Given the description of an element on the screen output the (x, y) to click on. 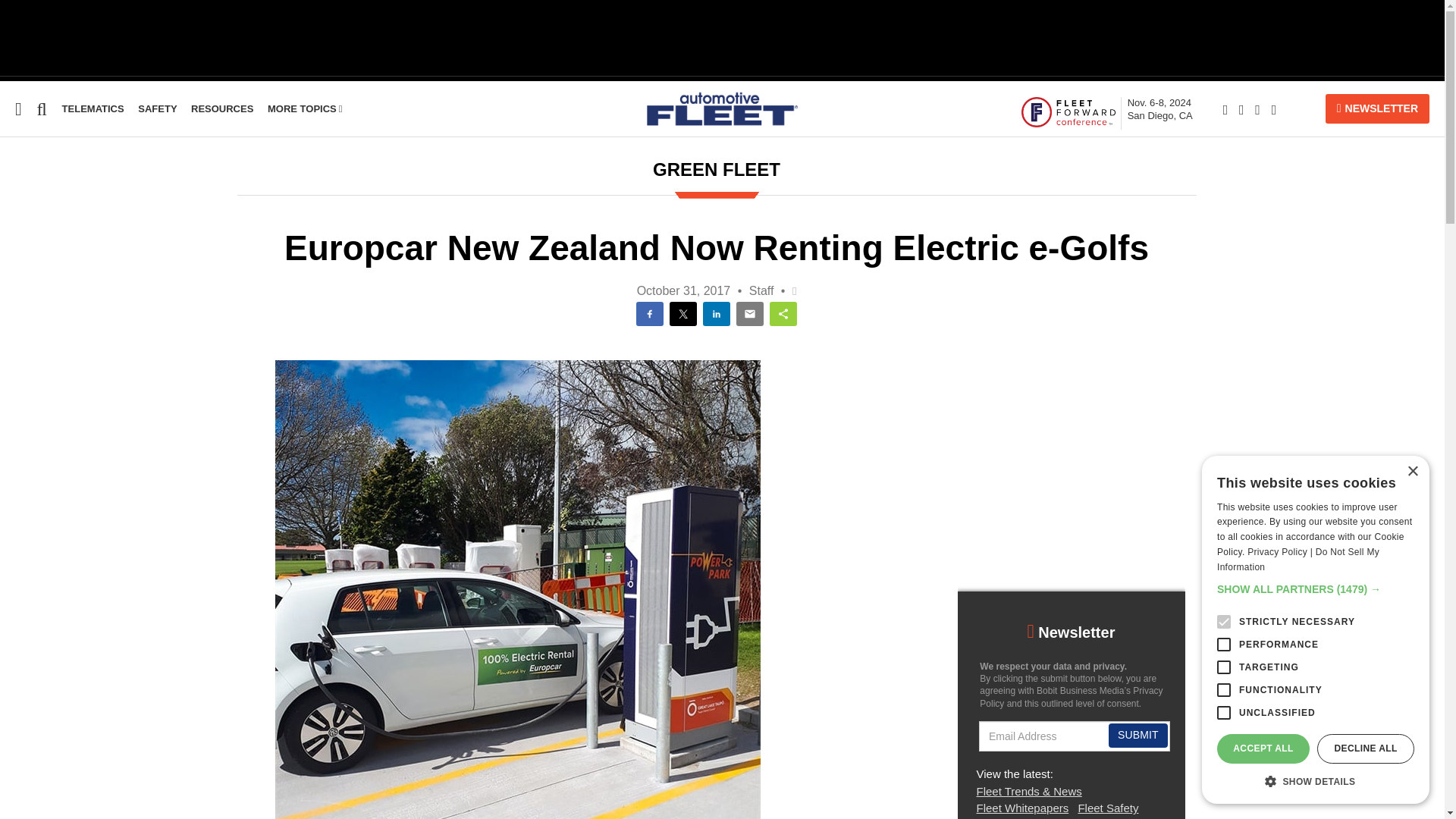
Nov. 6-8, 2024 (1159, 109)
Maintenance (37, 351)
Safety (17, 236)
TELEMATICS (92, 108)
Safety (157, 108)
Safety (17, 236)
SAFETY (157, 108)
Home (1159, 109)
MORE TOPICS (16, 206)
Fleet Forward Conference (304, 108)
Telematics (1068, 111)
RESOURCES (31, 323)
Fuel (221, 108)
Resources (11, 264)
